Given the description of an element on the screen output the (x, y) to click on. 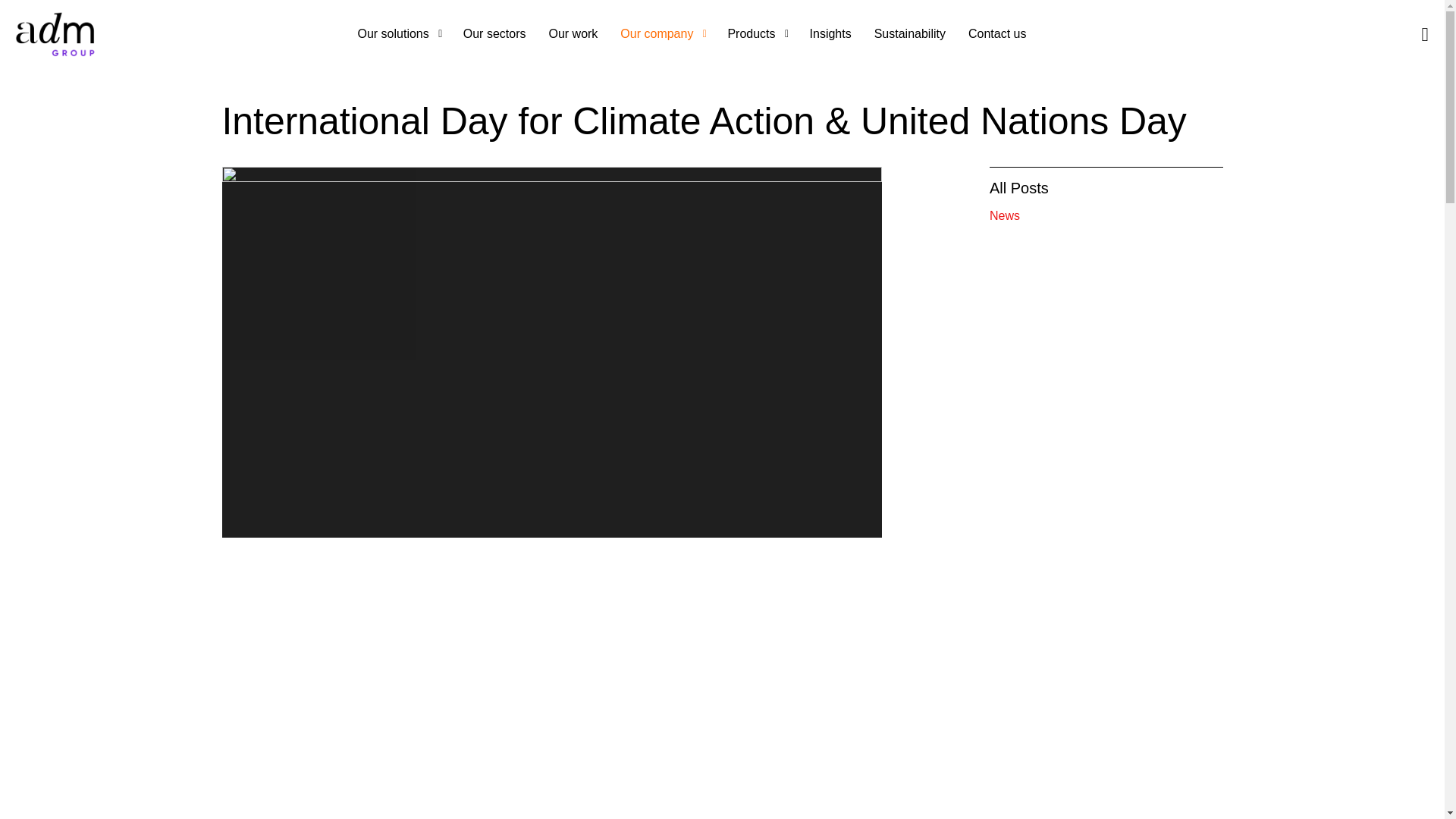
News (1106, 216)
Our work (572, 33)
Sustainability (909, 33)
Our solutions (398, 33)
Insights (830, 33)
Contact us (996, 33)
All Posts (1019, 187)
adm Group (55, 33)
Our company (662, 33)
Products (756, 33)
